Given the description of an element on the screen output the (x, y) to click on. 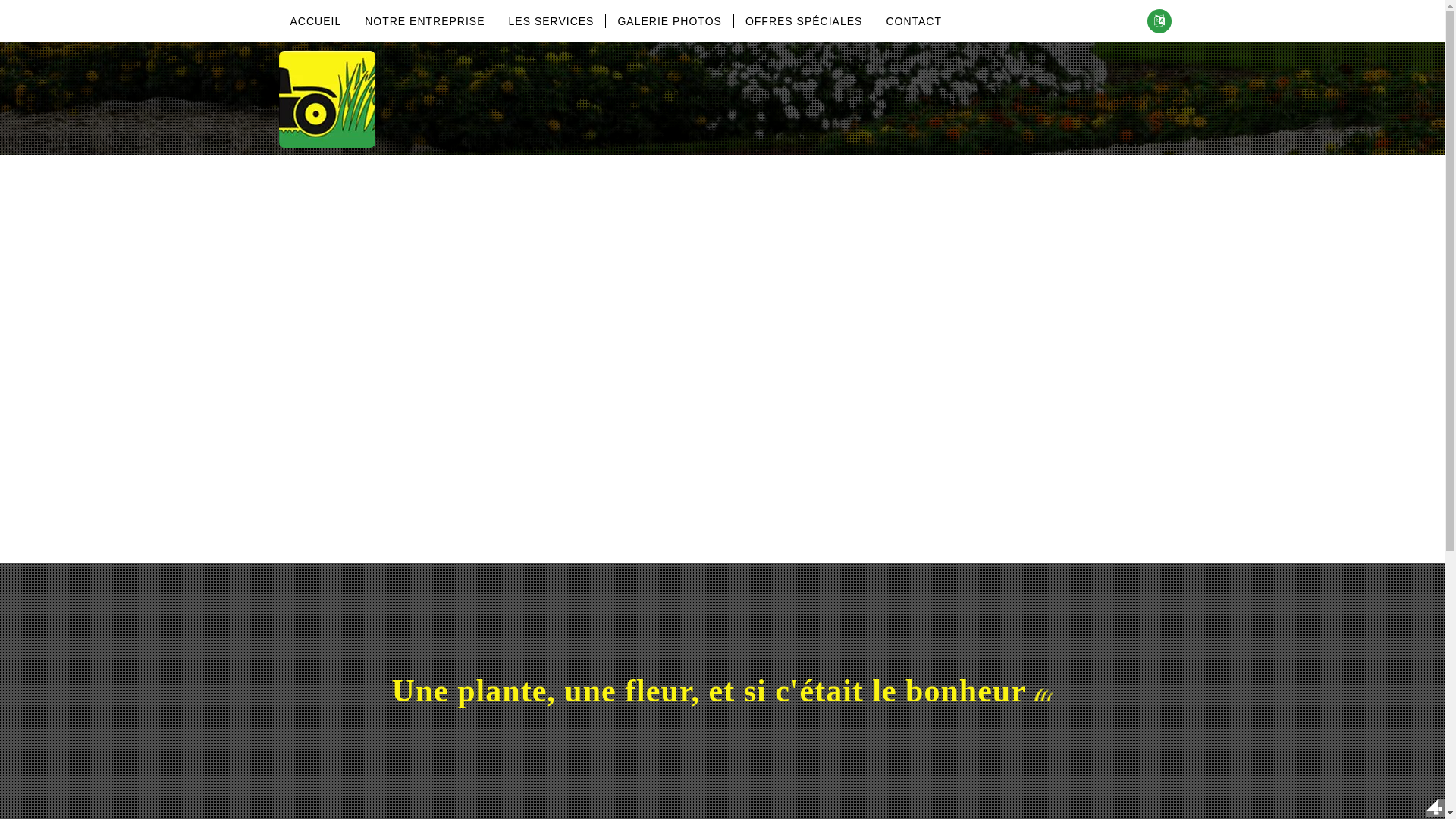
GALERIE PHOTOS Element type: text (668, 21)
NOTRE ENTREPRISE Element type: text (423, 21)
LES SERVICES Element type: text (550, 21)
CONTACT Element type: text (913, 21)
ACCUEIL Element type: text (316, 21)
